Given the description of an element on the screen output the (x, y) to click on. 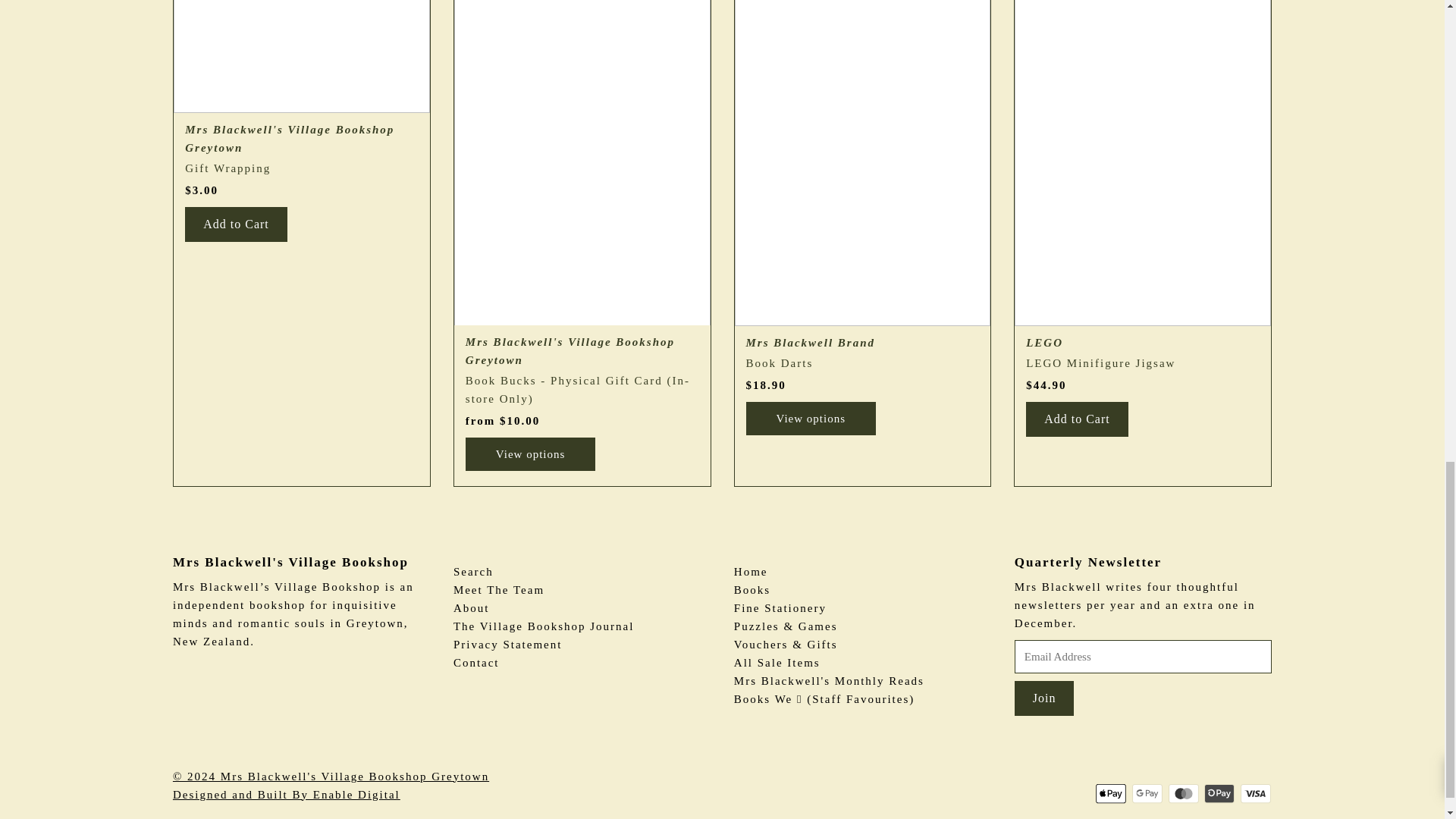
Add to Cart (235, 224)
Shop Pay (1219, 793)
Google Pay (1146, 793)
Add to Cart (1077, 419)
Join (1044, 697)
Visa (1255, 793)
Mastercard (1183, 793)
Apple Pay (1110, 793)
